Given the description of an element on the screen output the (x, y) to click on. 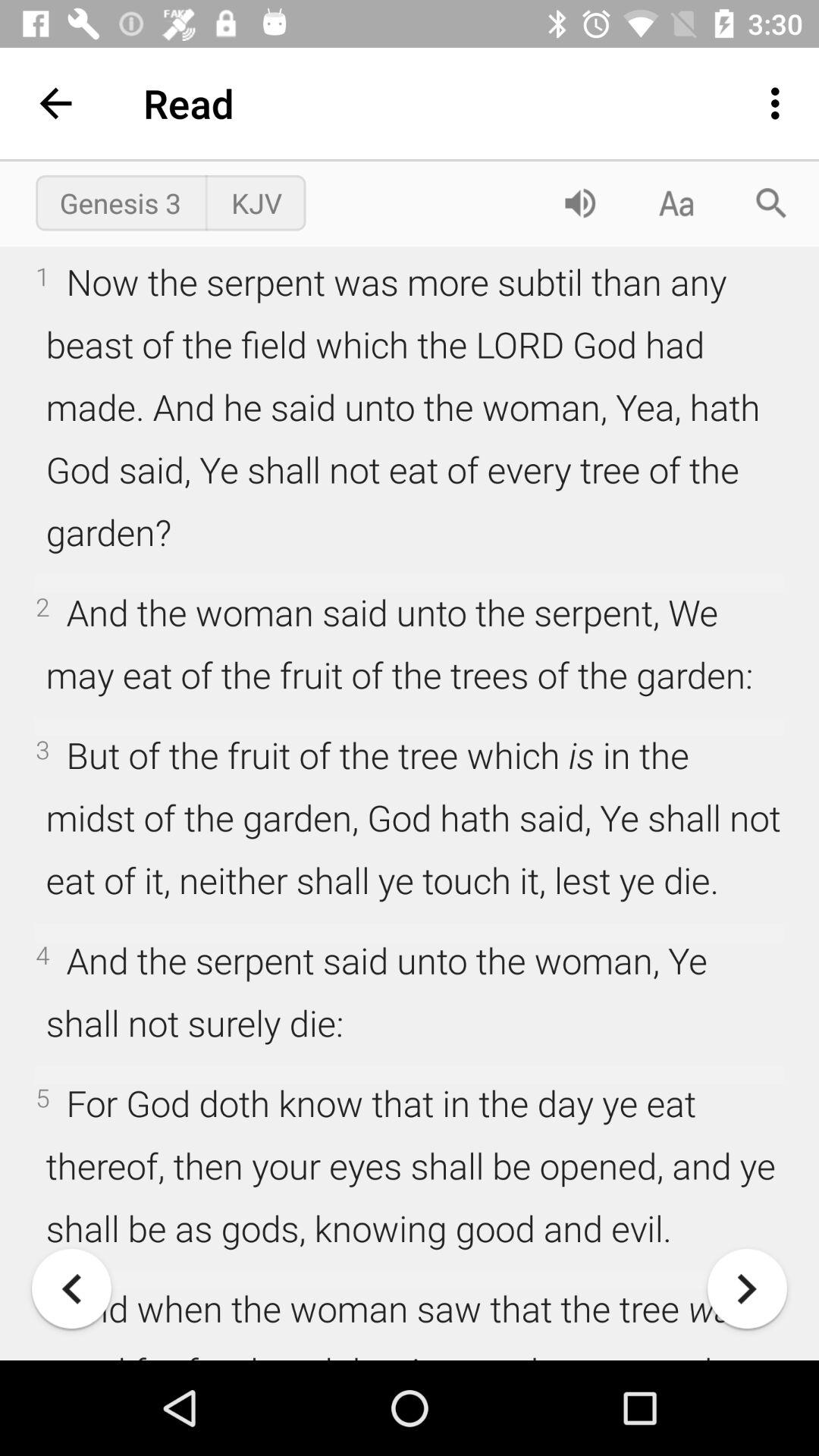
go forward (747, 1288)
